Given the description of an element on the screen output the (x, y) to click on. 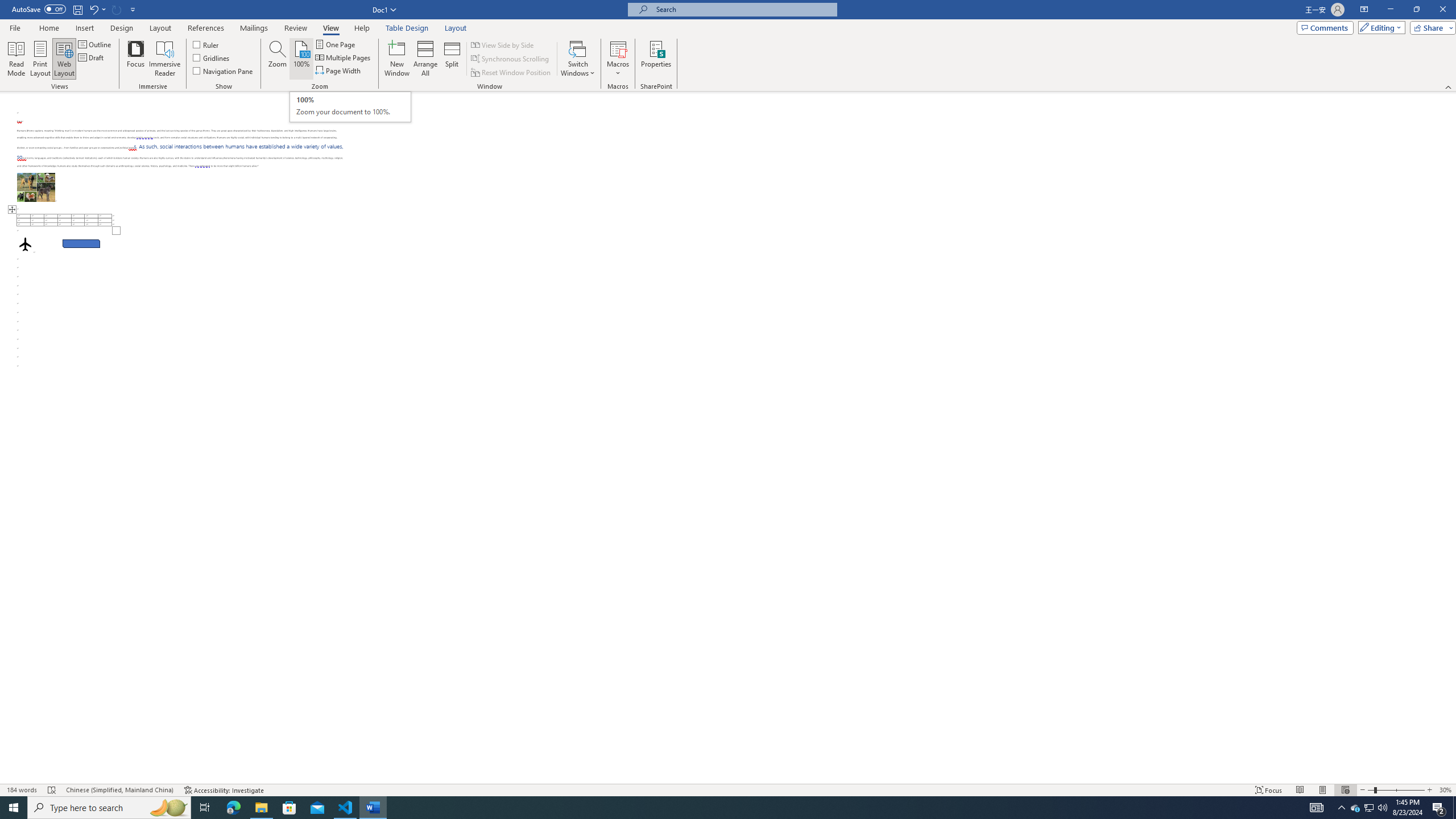
New Window (396, 58)
Editing (1379, 27)
Synchronous Scrolling (510, 58)
Airplane with solid fill (25, 243)
Navigation Pane (223, 69)
